Given the description of an element on the screen output the (x, y) to click on. 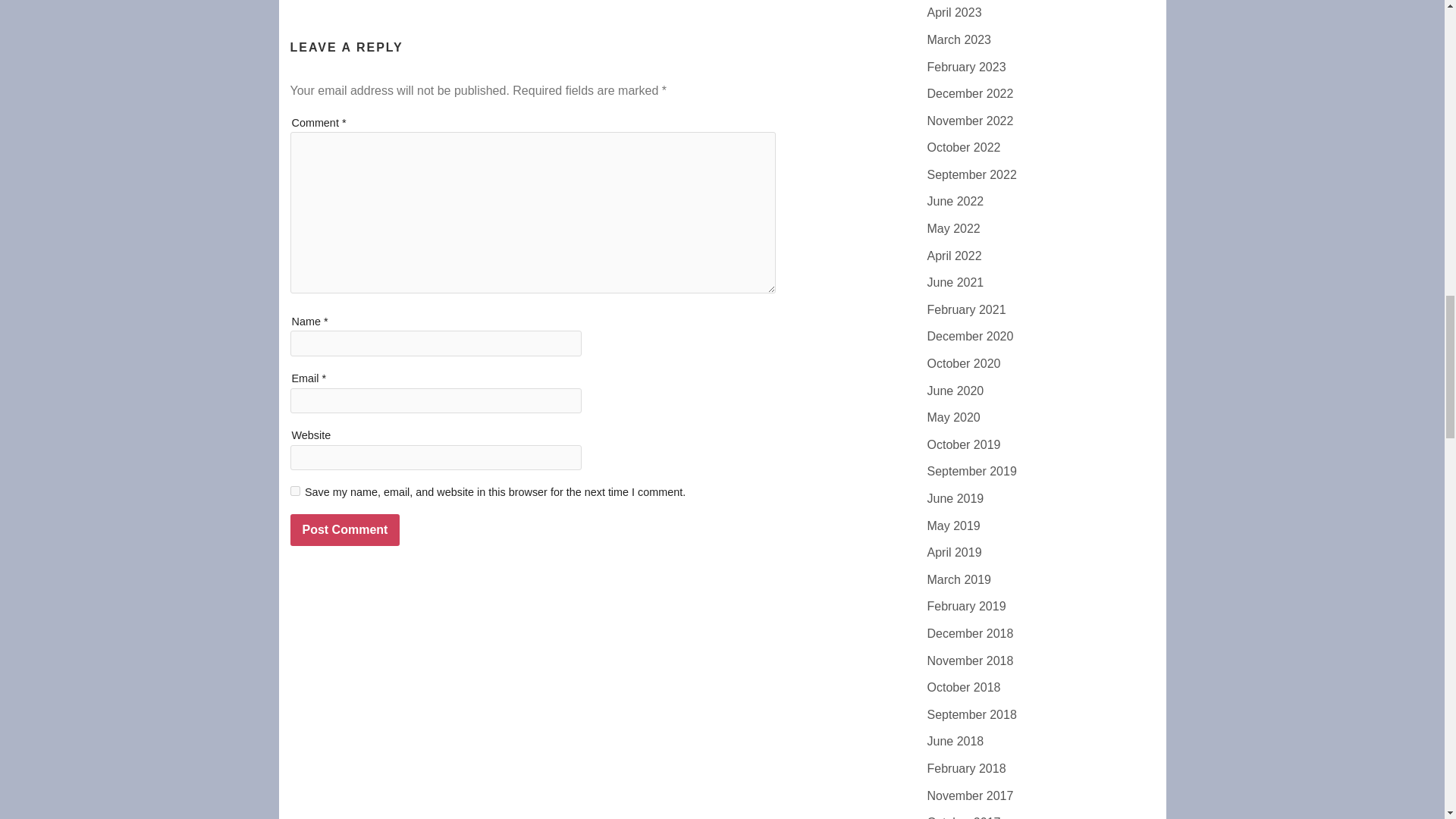
Post Comment (343, 530)
Post Comment (343, 530)
yes (294, 491)
